Given the description of an element on the screen output the (x, y) to click on. 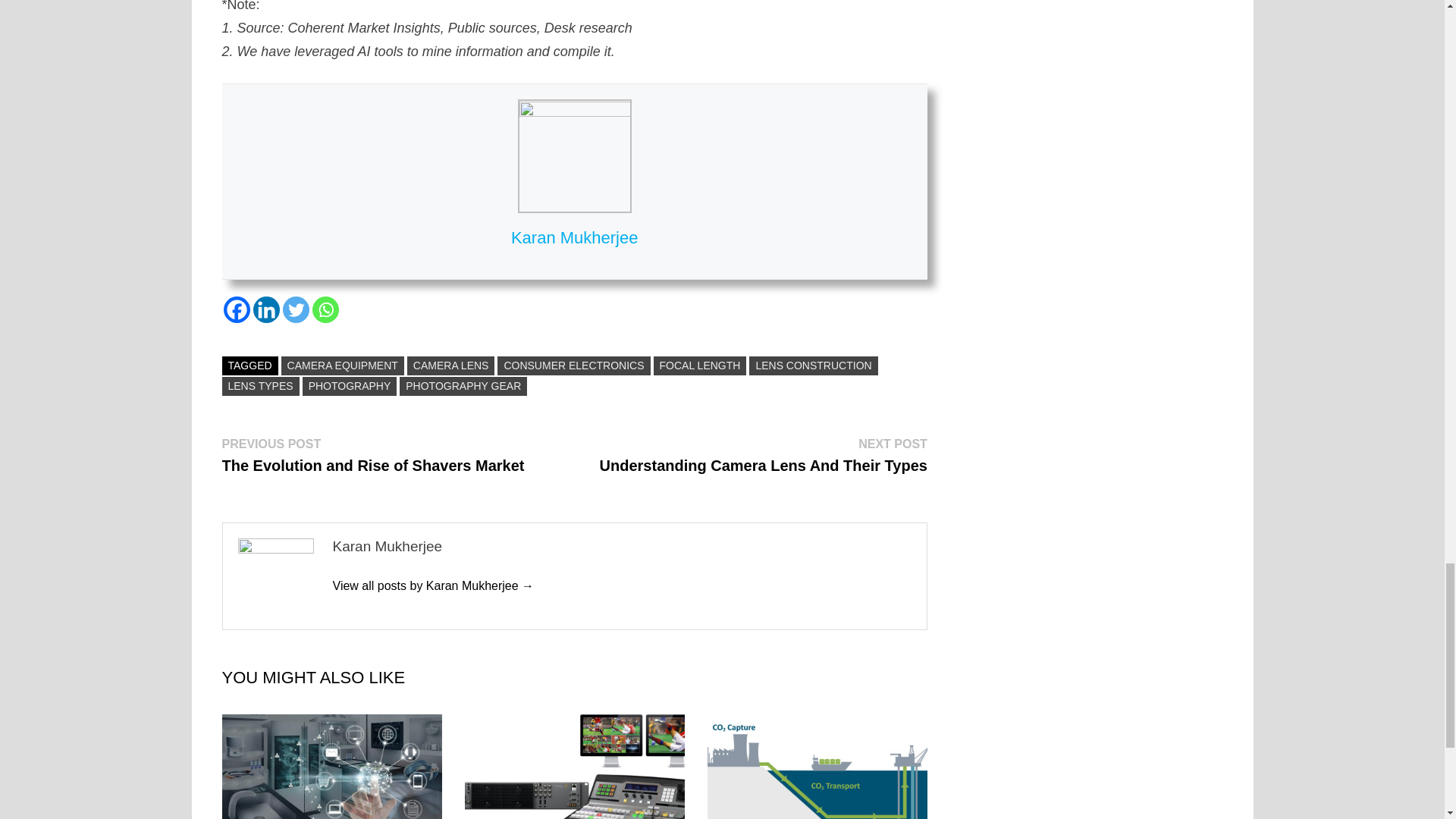
Linkedin (266, 309)
Whatsapp (326, 309)
Karan Mukherjee (432, 585)
Facebook (235, 309)
Twitter (295, 309)
